Given the description of an element on the screen output the (x, y) to click on. 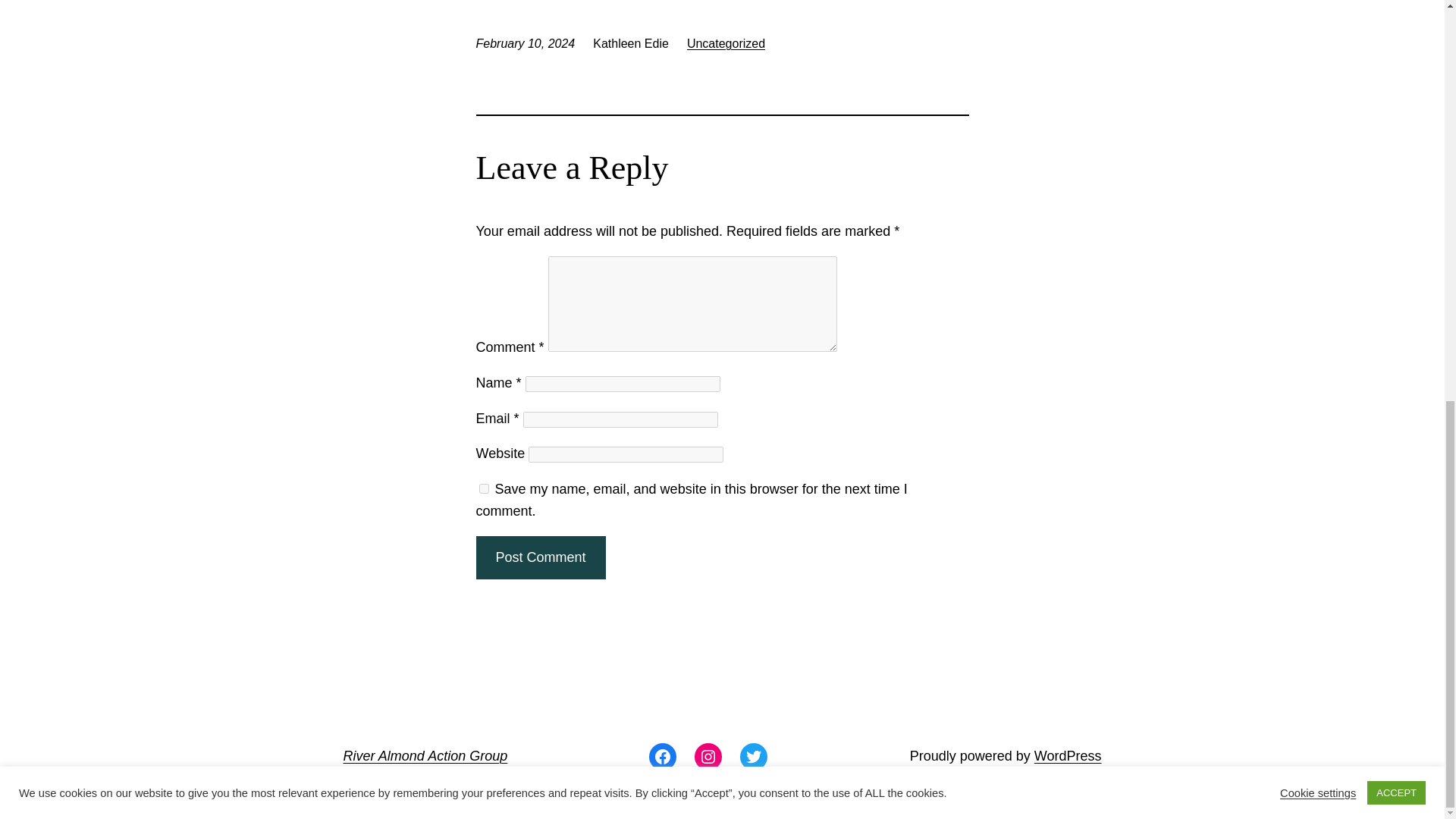
River Almond Action Group (424, 755)
Post Comment (540, 557)
Cookie settings (1317, 6)
WordPress (1067, 755)
ACCEPT (1396, 9)
Instagram (708, 756)
Post Comment (540, 557)
yes (484, 488)
Uncategorized (726, 42)
Facebook (663, 756)
